Given the description of an element on the screen output the (x, y) to click on. 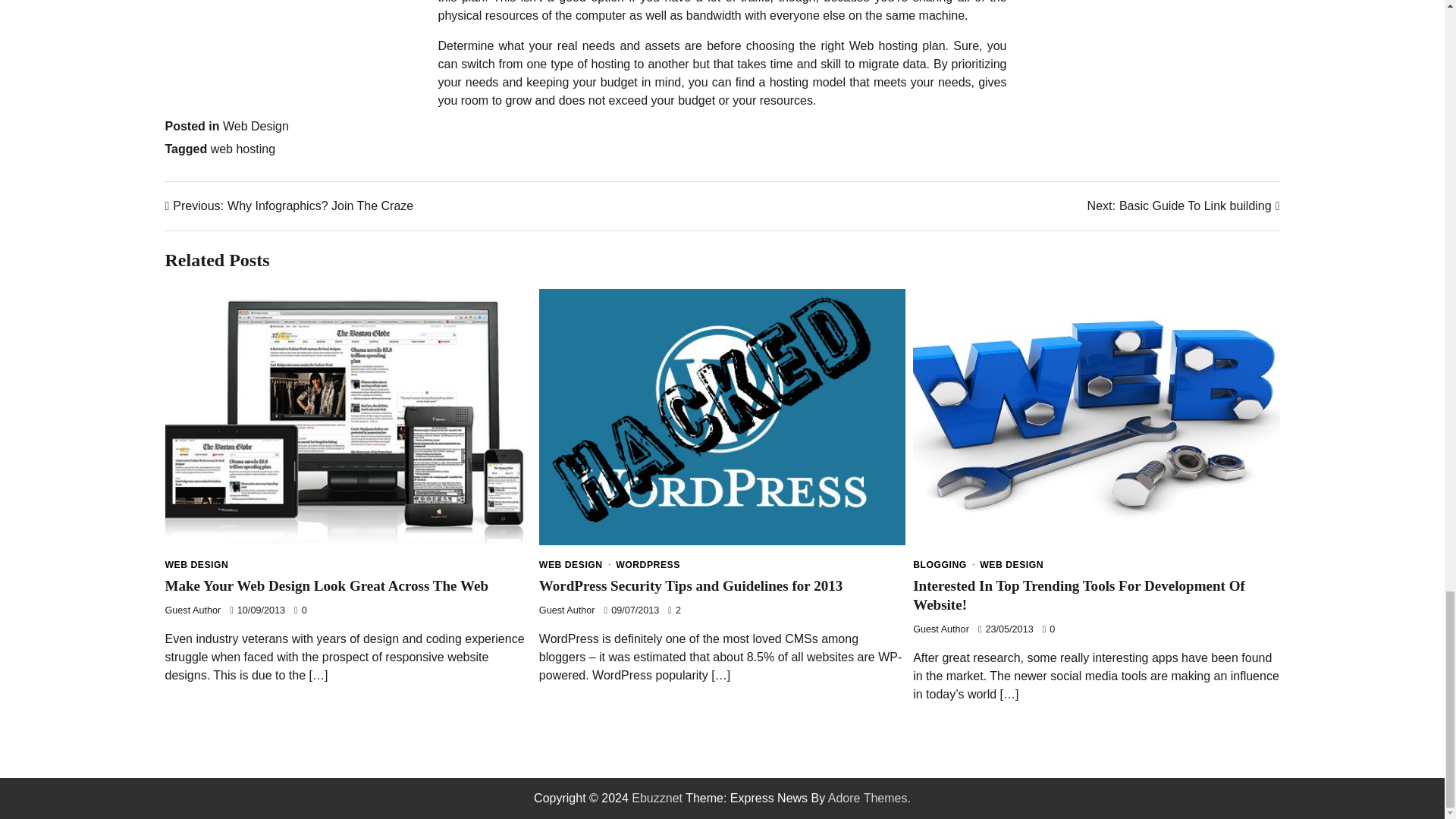
WEB DESIGN (196, 564)
WEB DESIGN (574, 564)
WORDPRESS (647, 564)
Guest Author (193, 610)
web hosting (243, 148)
Make Your Web Design Look Great Across The Web (327, 585)
Guest Author (566, 610)
WordPress Security Tips and Guidelines for 2013 (1183, 206)
Web Design (690, 585)
